Given the description of an element on the screen output the (x, y) to click on. 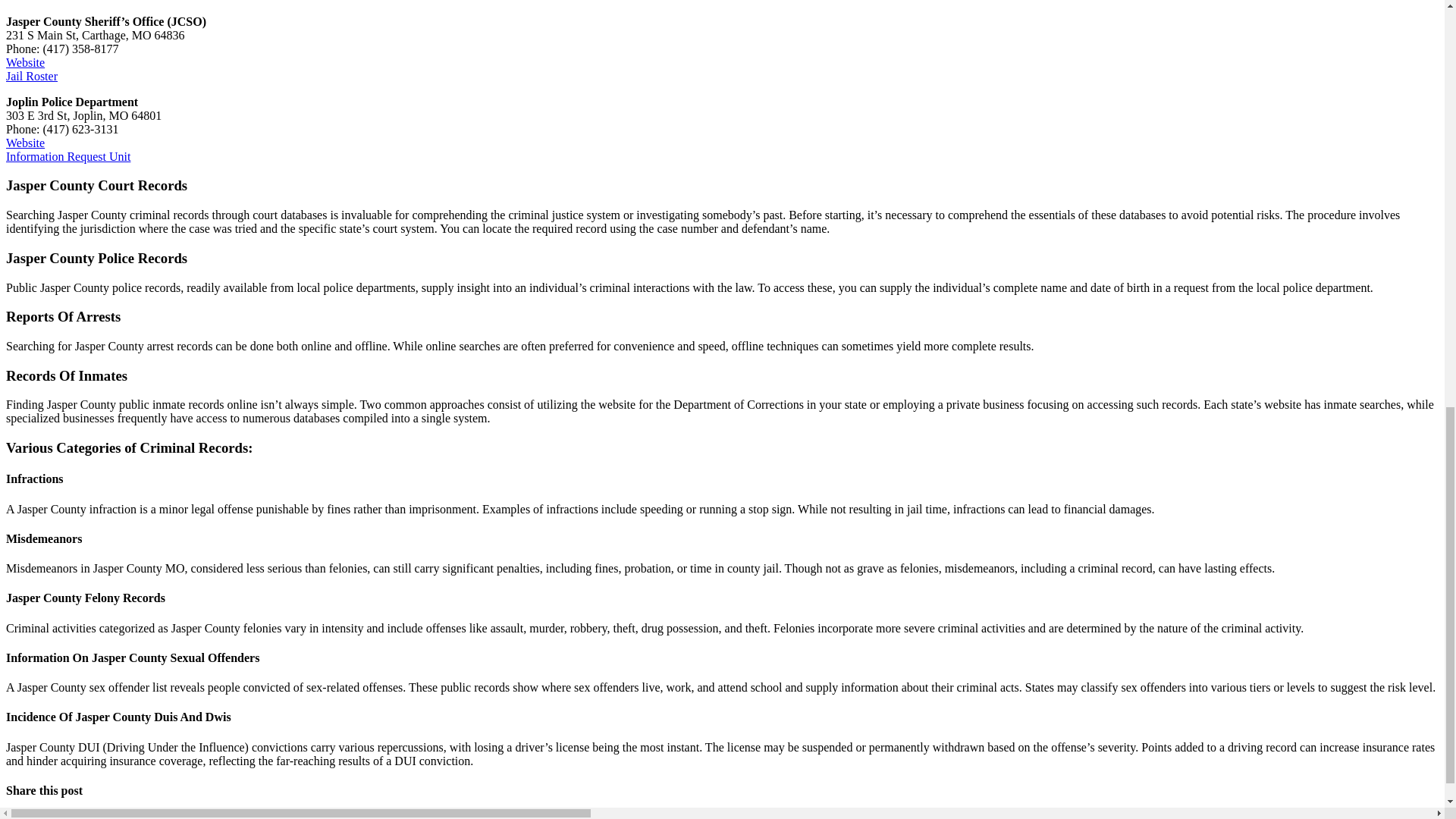
Website (25, 142)
Website (25, 62)
Information Request Unit (68, 155)
Jail Roster (31, 75)
